Given the description of an element on the screen output the (x, y) to click on. 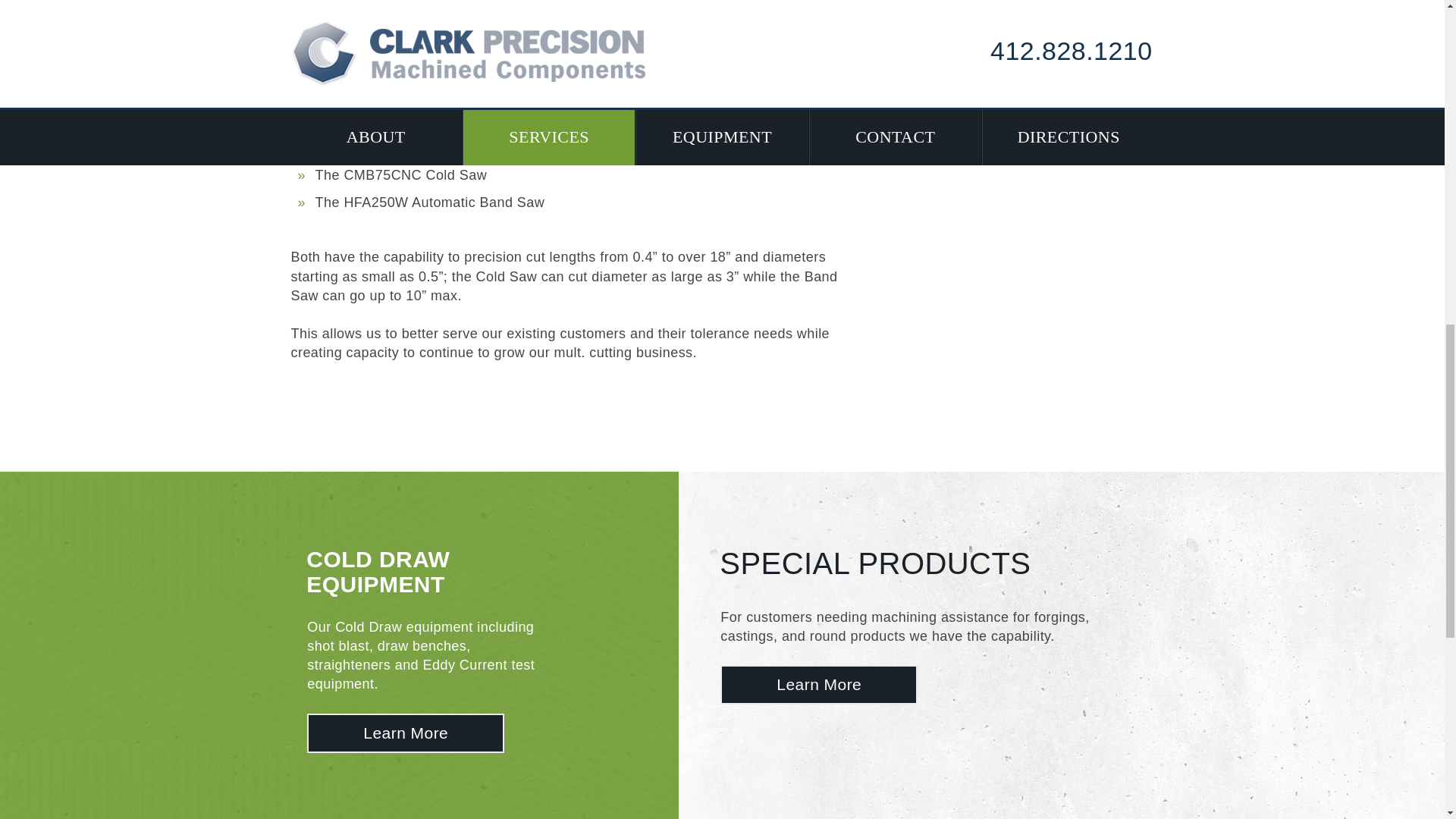
Clark Precision Machined Components (405, 732)
Learn More (818, 684)
Clark Precision Machined Components (818, 684)
Learn More (405, 732)
